Given the description of an element on the screen output the (x, y) to click on. 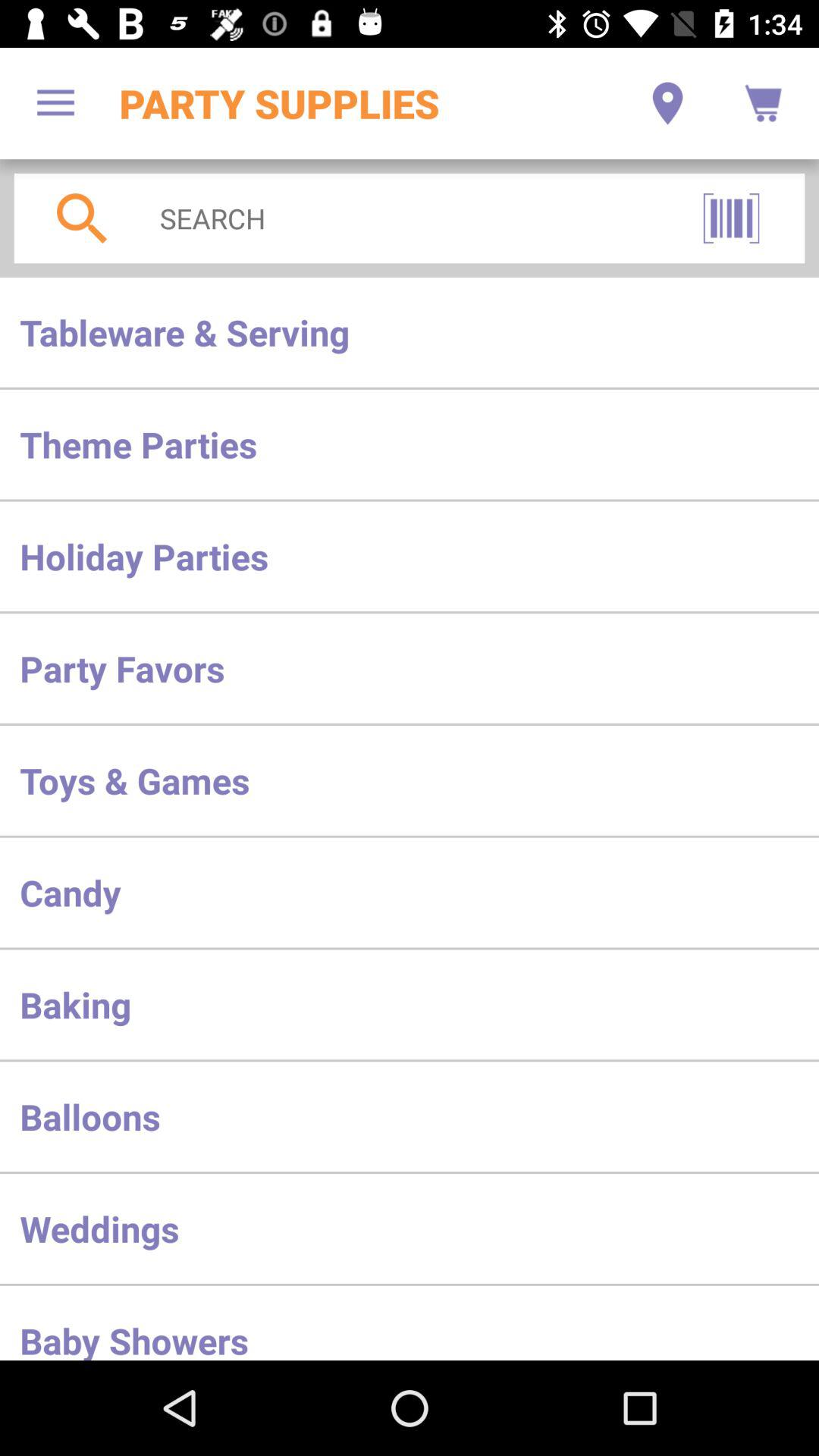
scroll until holiday parties item (409, 556)
